Given the description of an element on the screen output the (x, y) to click on. 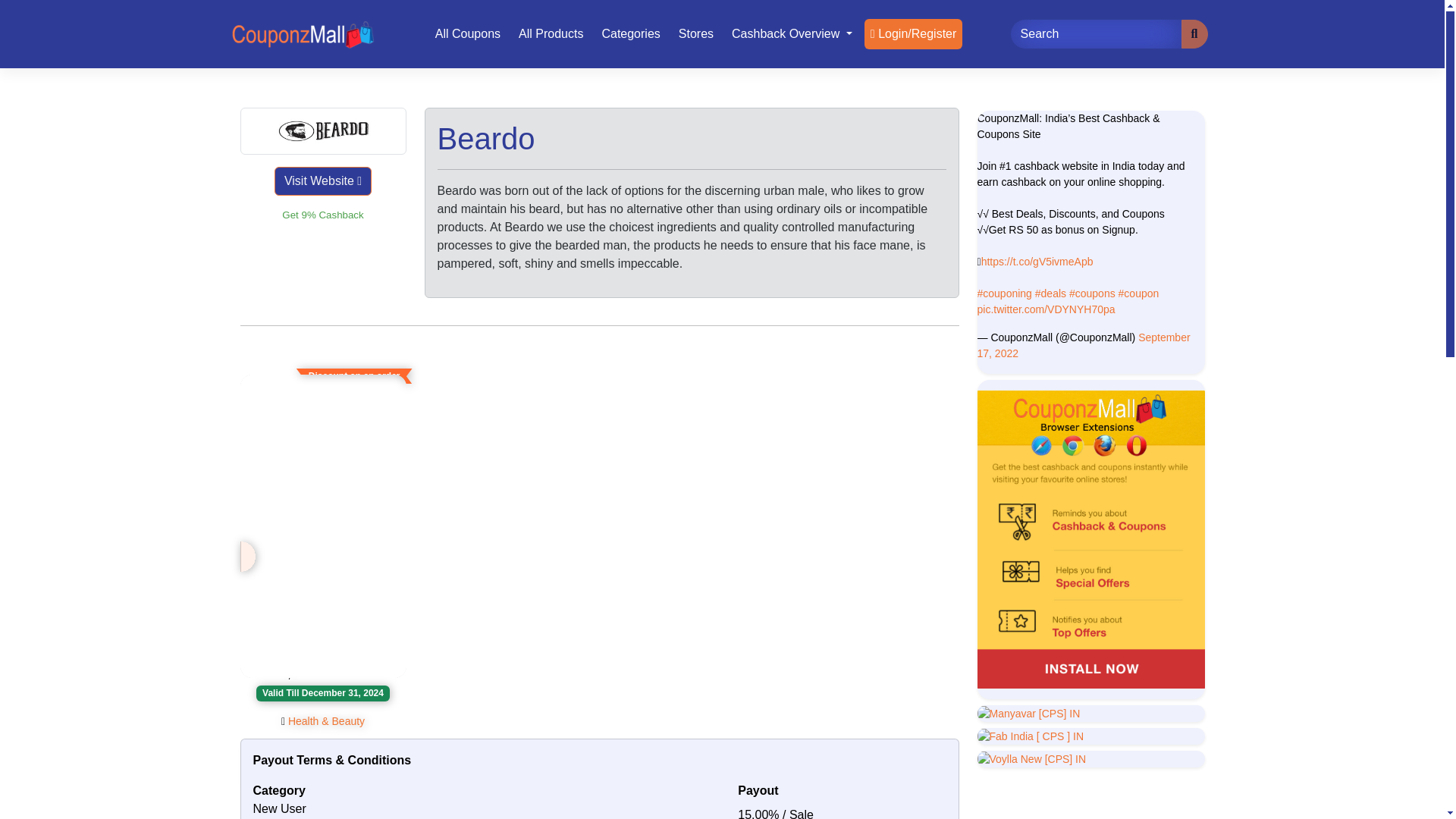
Stores (695, 33)
Visit Website (323, 181)
All Coupons (467, 33)
Cashback Overview (792, 33)
All Coupons (467, 33)
Activate Deal (323, 594)
All Products (550, 33)
Stores (695, 33)
September 17, 2022 (1082, 345)
Cashback Overview (792, 33)
Categories (630, 33)
All Products (550, 33)
Categories (630, 33)
